Given the description of an element on the screen output the (x, y) to click on. 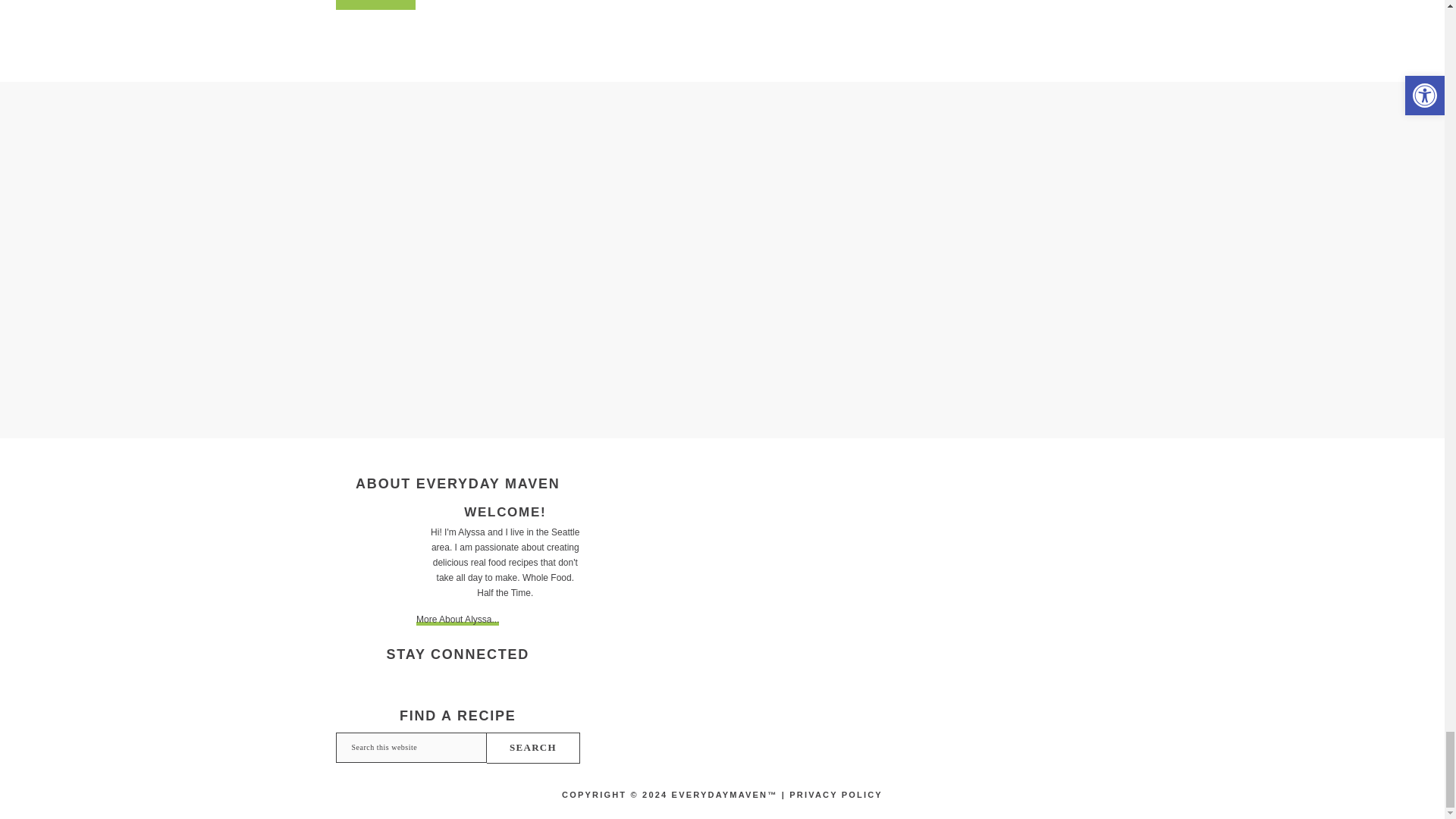
Search (532, 747)
Submit (374, 4)
Search (532, 747)
